Given the description of an element on the screen output the (x, y) to click on. 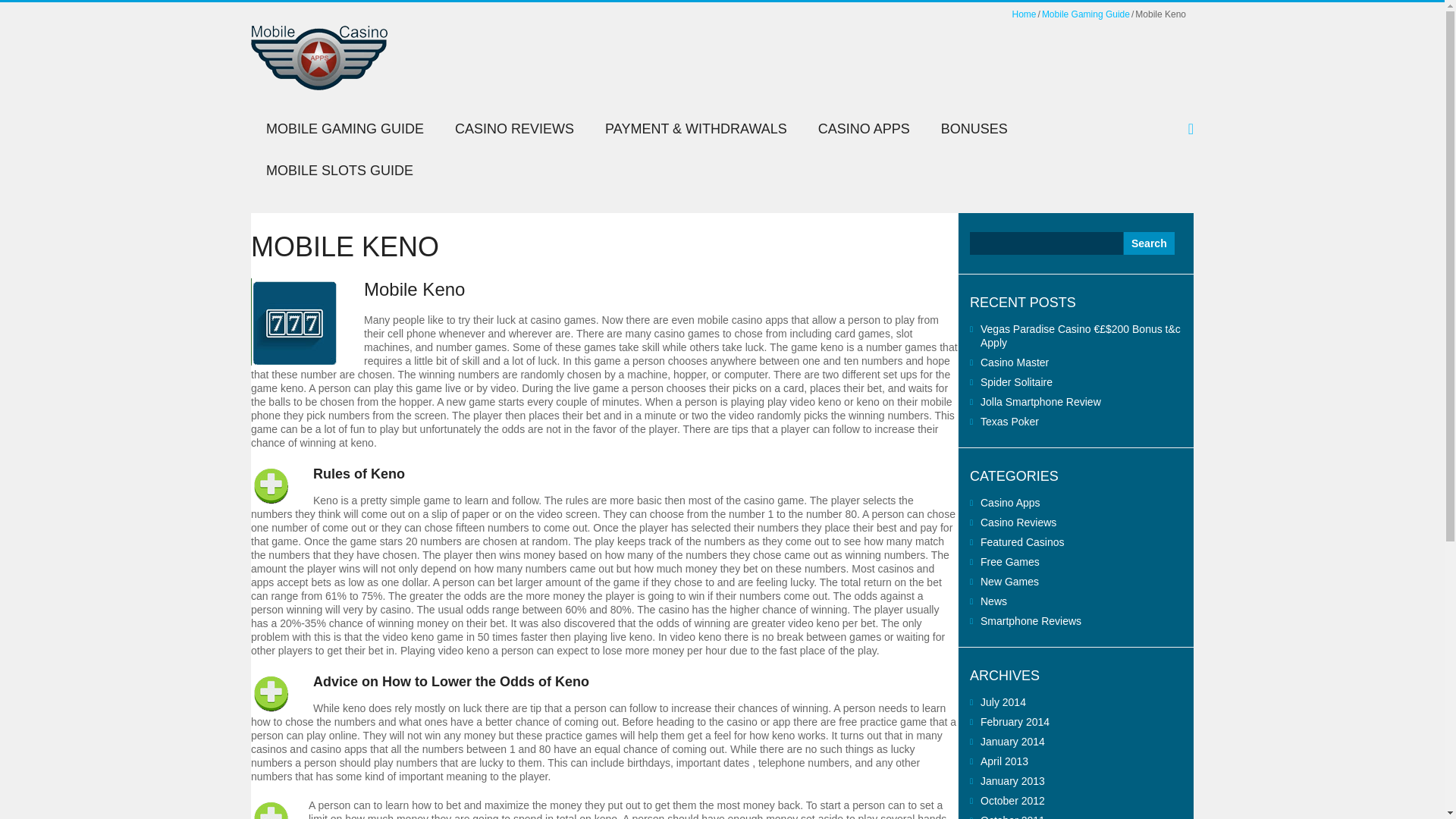
CASINO APPS (863, 128)
MOBILE GAMING GUIDE (344, 128)
Home (1023, 14)
Search (1149, 242)
Free Games (1009, 562)
Casino Apps (1010, 502)
Jolla Smartphone Review (1039, 401)
Casino Reviews (1018, 522)
CASINO REVIEWS (514, 128)
Spider Solitaire (1015, 381)
